Given the description of an element on the screen output the (x, y) to click on. 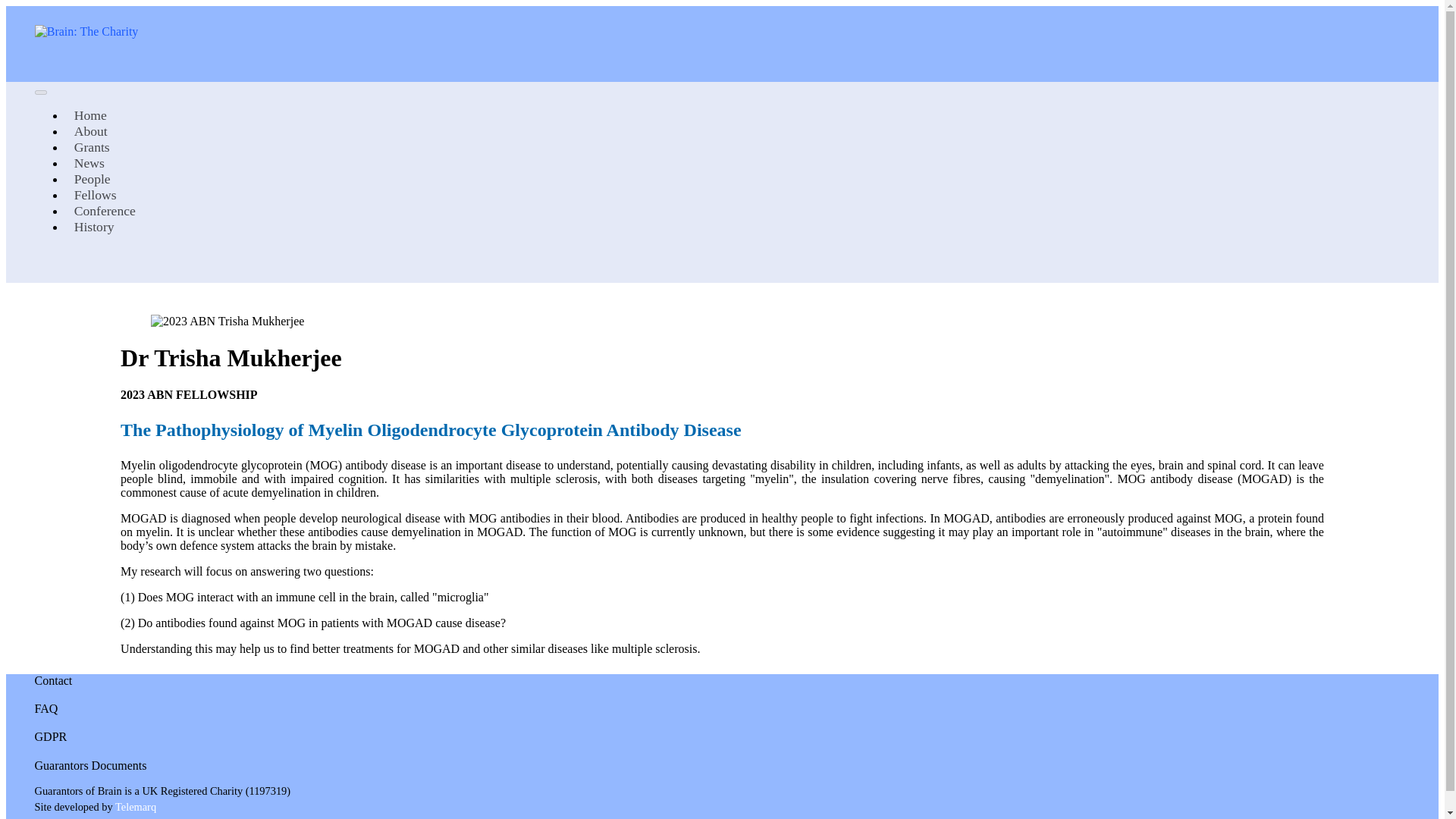
Guarantors Documents (90, 765)
Grants (92, 146)
People (92, 178)
History (94, 226)
News (89, 162)
Search (44, 270)
Fellows (95, 194)
FAQ (46, 708)
Home (90, 114)
Telemarq (135, 807)
